Given the description of an element on the screen output the (x, y) to click on. 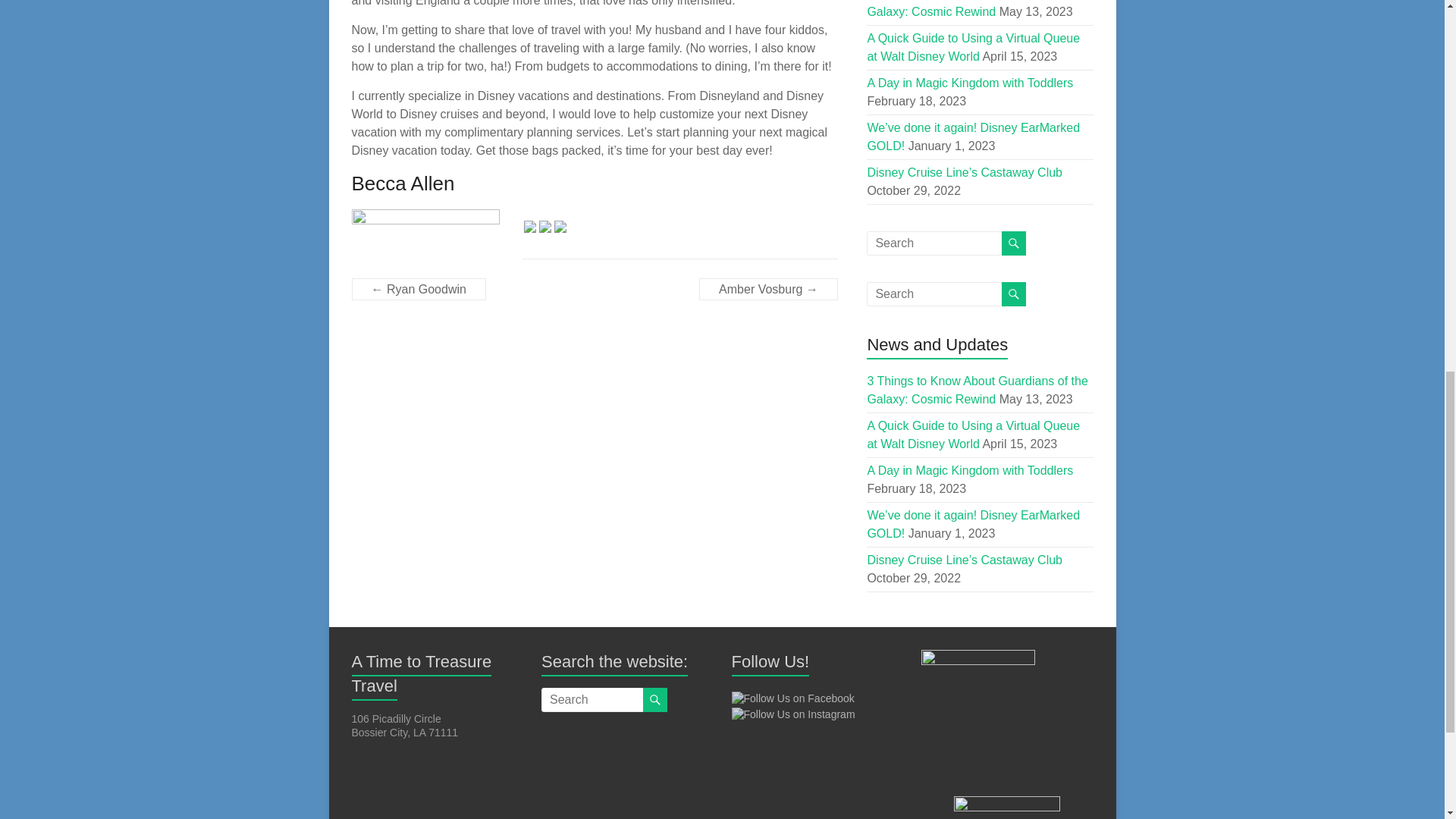
Follow Us on Facebook (791, 698)
A Day in Magic Kingdom with Toddlers (969, 470)
A Quick Guide to Using a Virtual Queue at Walt Disney World (973, 47)
A Quick Guide to Using a Virtual Queue at Walt Disney World (973, 434)
Follow Us on Instagram (792, 714)
A Day in Magic Kingdom with Toddlers (969, 82)
